Given the description of an element on the screen output the (x, y) to click on. 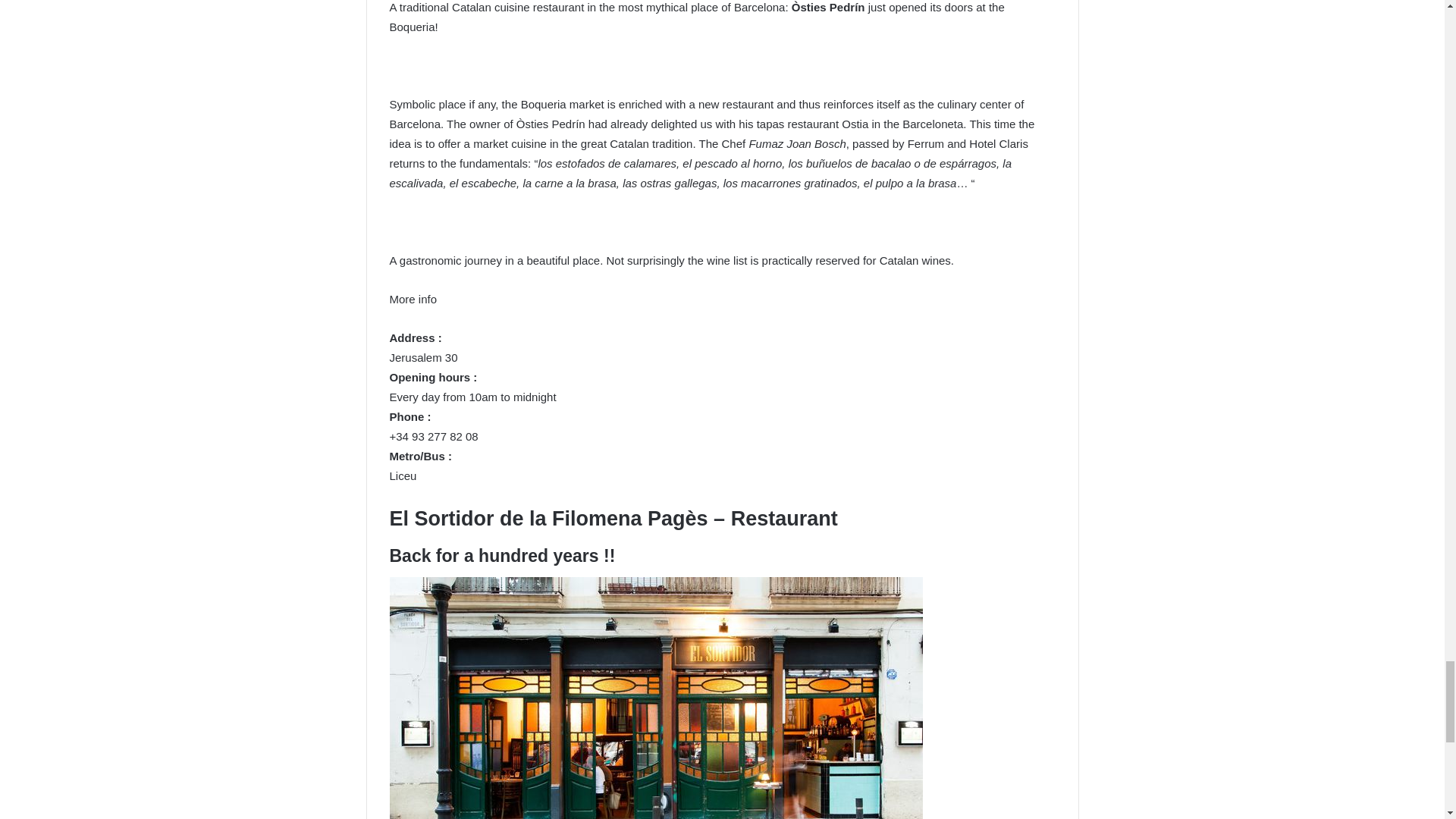
Top Traditional Catalan Restaurants in Barcelona 8 (656, 698)
